Given the description of an element on the screen output the (x, y) to click on. 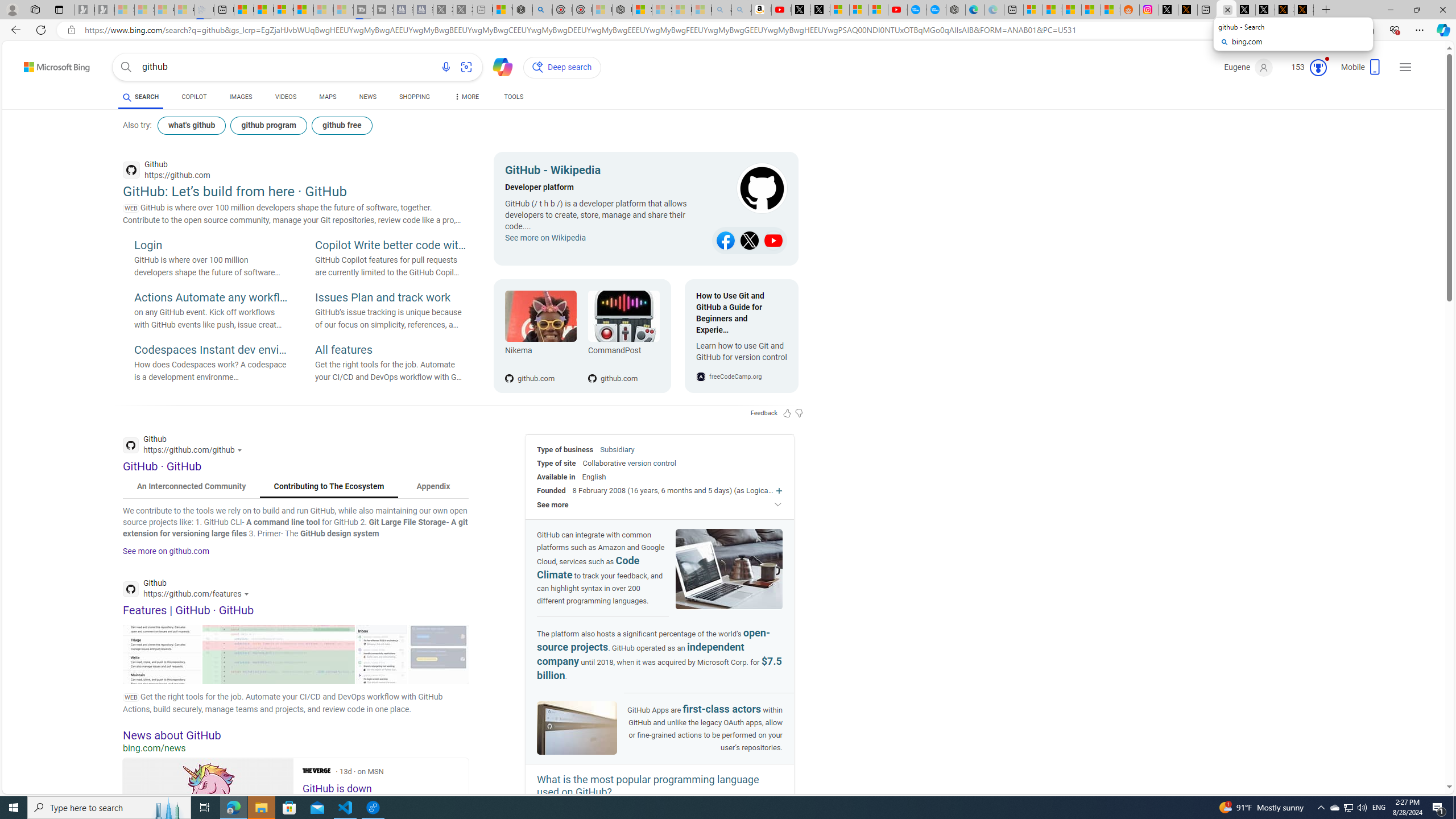
X Privacy Policy (1303, 9)
Shanghai, China hourly forecast | Microsoft Weather (1071, 9)
github program (268, 125)
Amazon Echo Dot PNG - Search Images - Sleeping (741, 9)
